Given the description of an element on the screen output the (x, y) to click on. 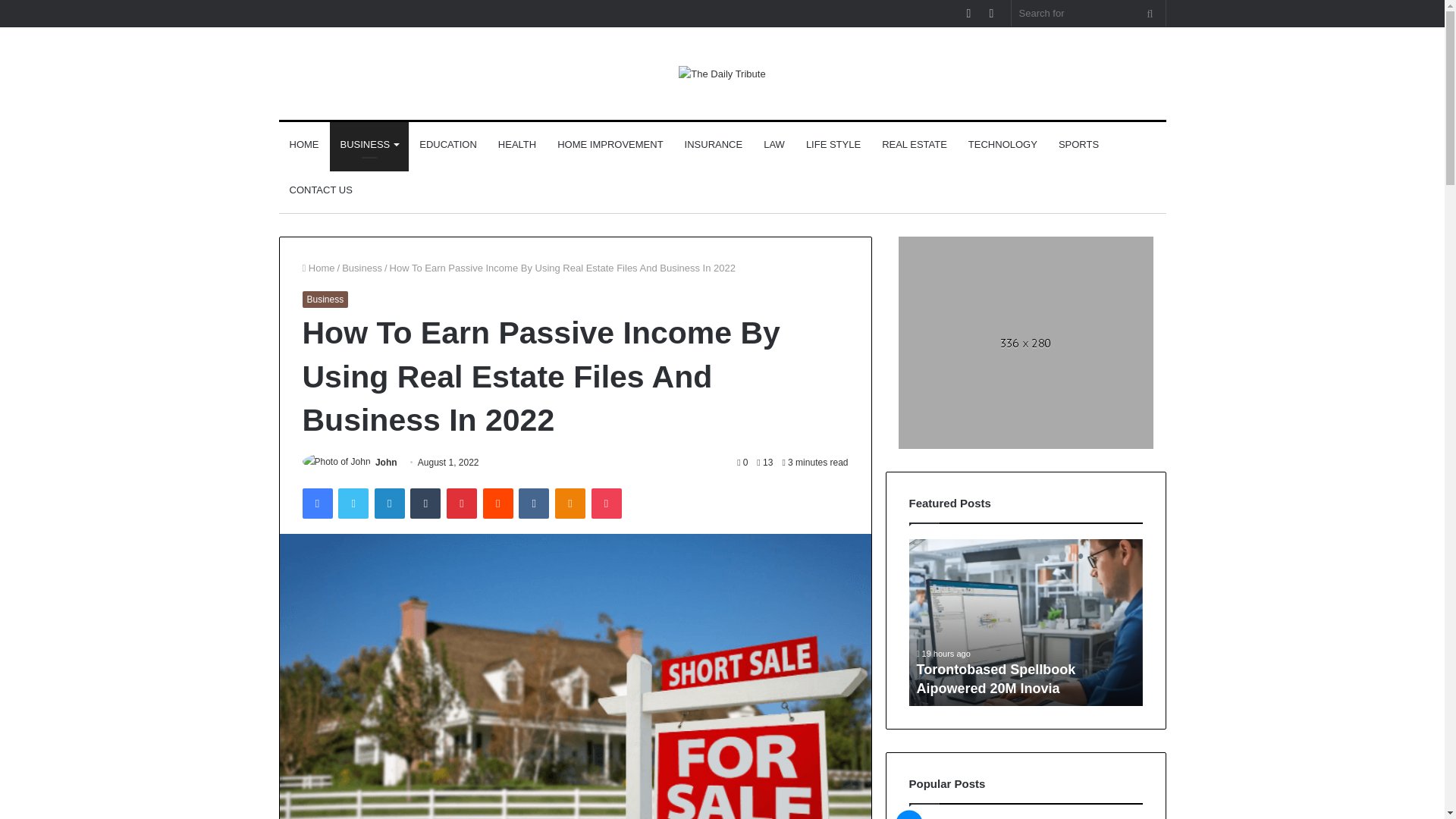
Reddit (498, 503)
INSURANCE (714, 144)
BUSINESS (369, 144)
Reddit (498, 503)
TECHNOLOGY (1003, 144)
REAL ESTATE (914, 144)
Twitter (352, 503)
Search for (1149, 13)
Business (361, 267)
Home (317, 267)
LIFE STYLE (832, 144)
Odnoklassniki (569, 503)
CONTACT US (320, 189)
Twitter (352, 503)
The Daily Tribute (721, 73)
